Given the description of an element on the screen output the (x, y) to click on. 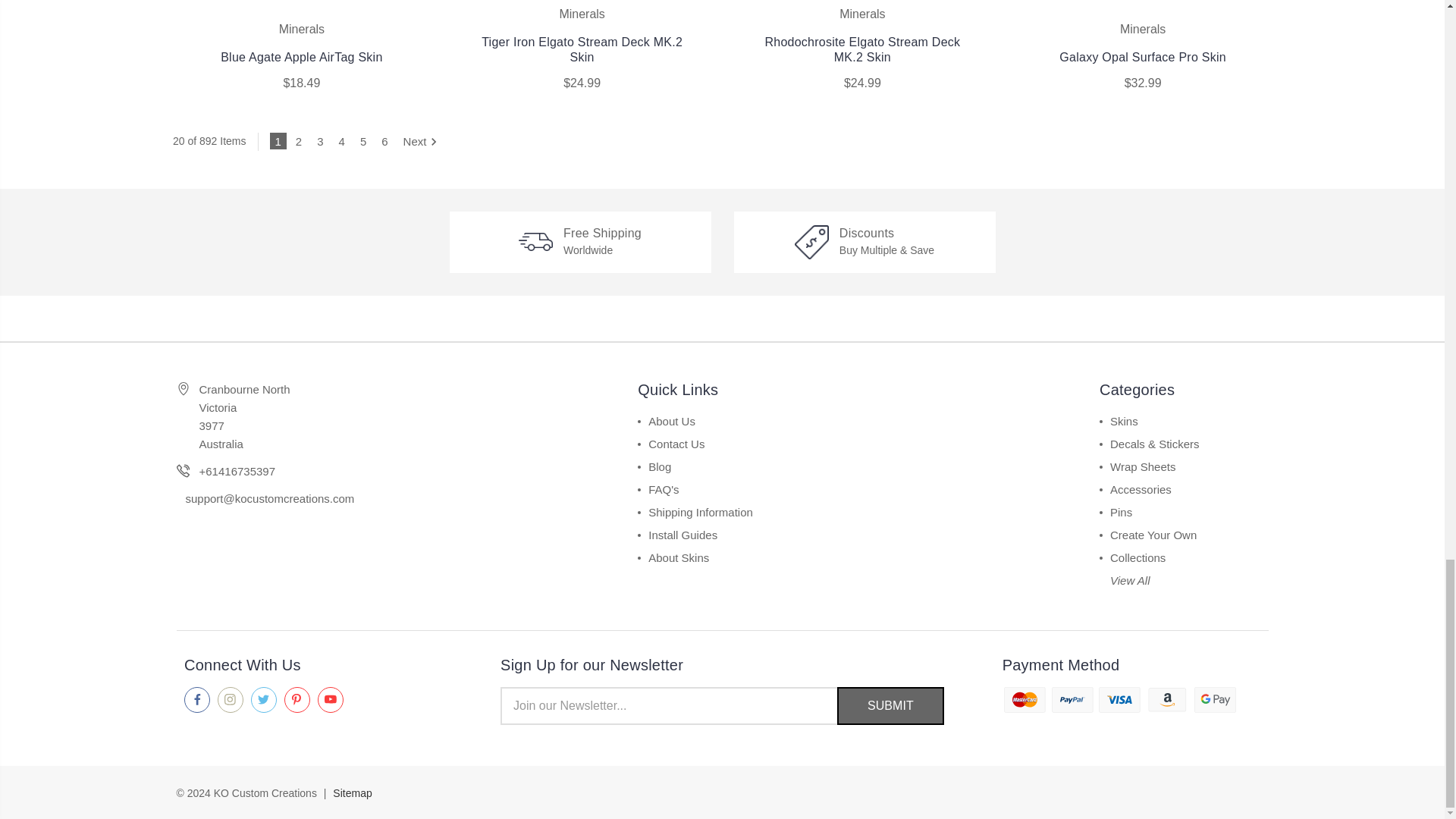
submit (890, 705)
